Given the description of an element on the screen output the (x, y) to click on. 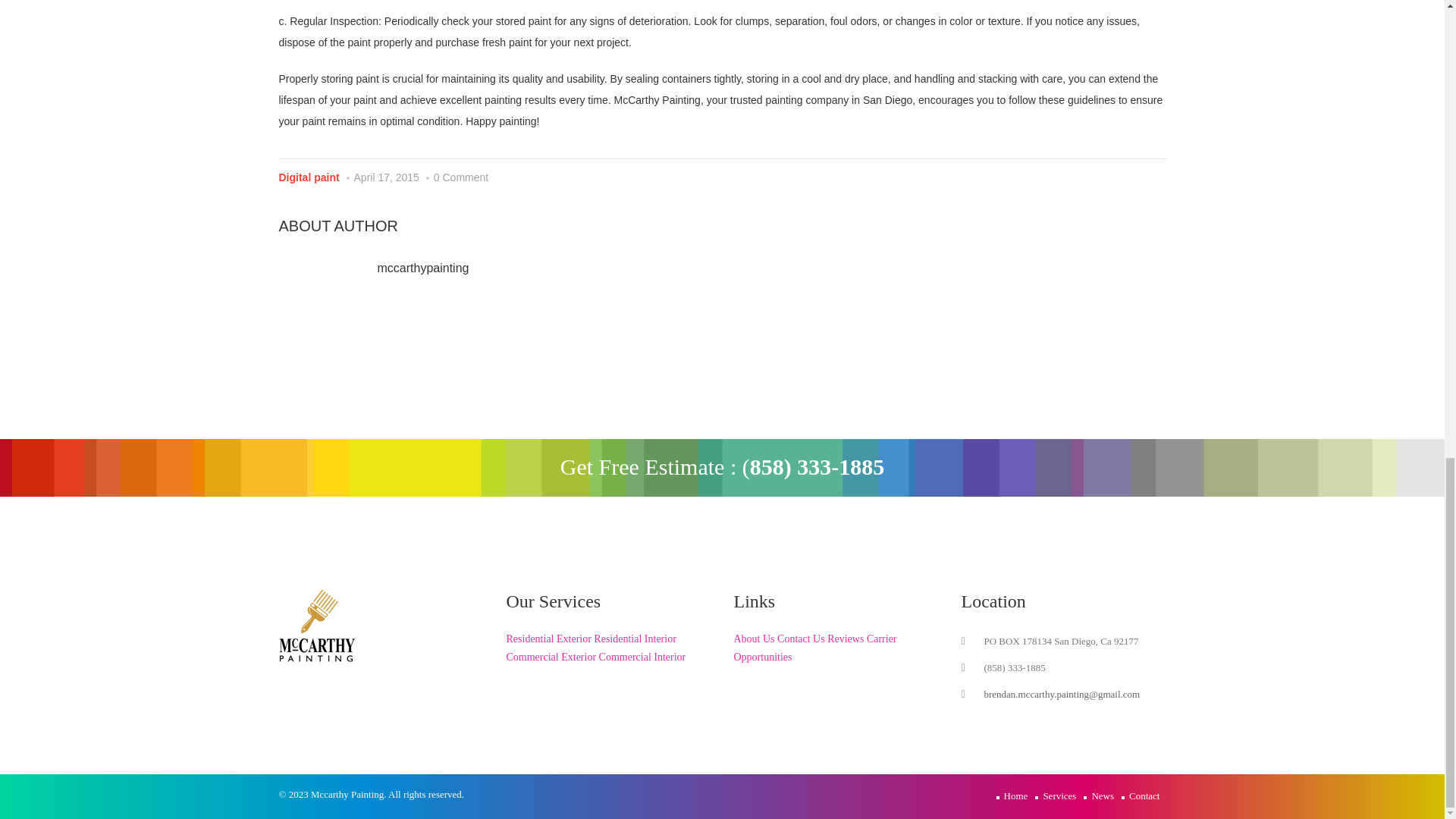
Residential Exterior (548, 638)
mccarthypainting (422, 267)
Digital paint (309, 177)
